Given the description of an element on the screen output the (x, y) to click on. 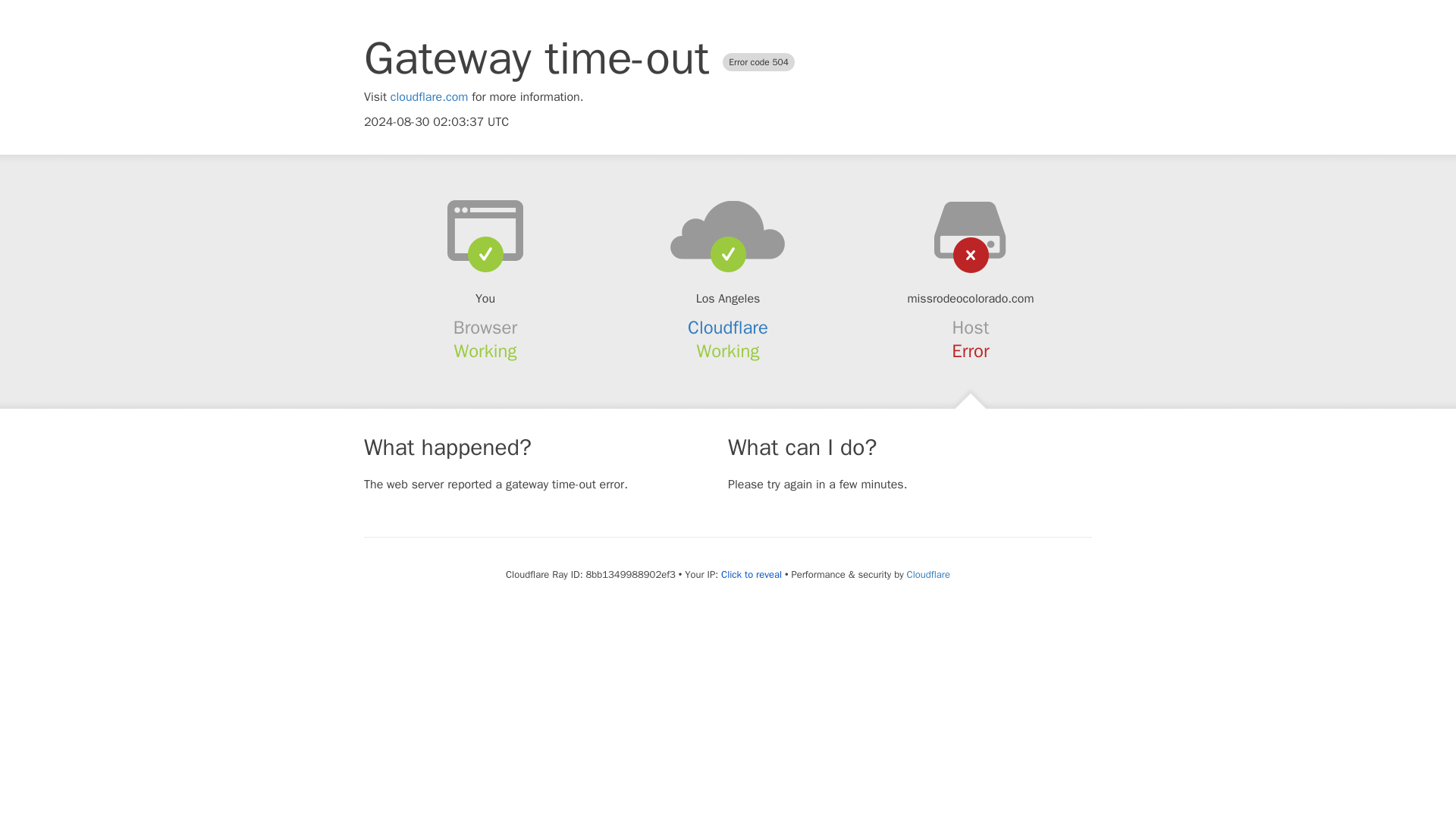
cloudflare.com (429, 96)
Click to reveal (750, 574)
Cloudflare (928, 574)
Cloudflare (727, 327)
